Given the description of an element on the screen output the (x, y) to click on. 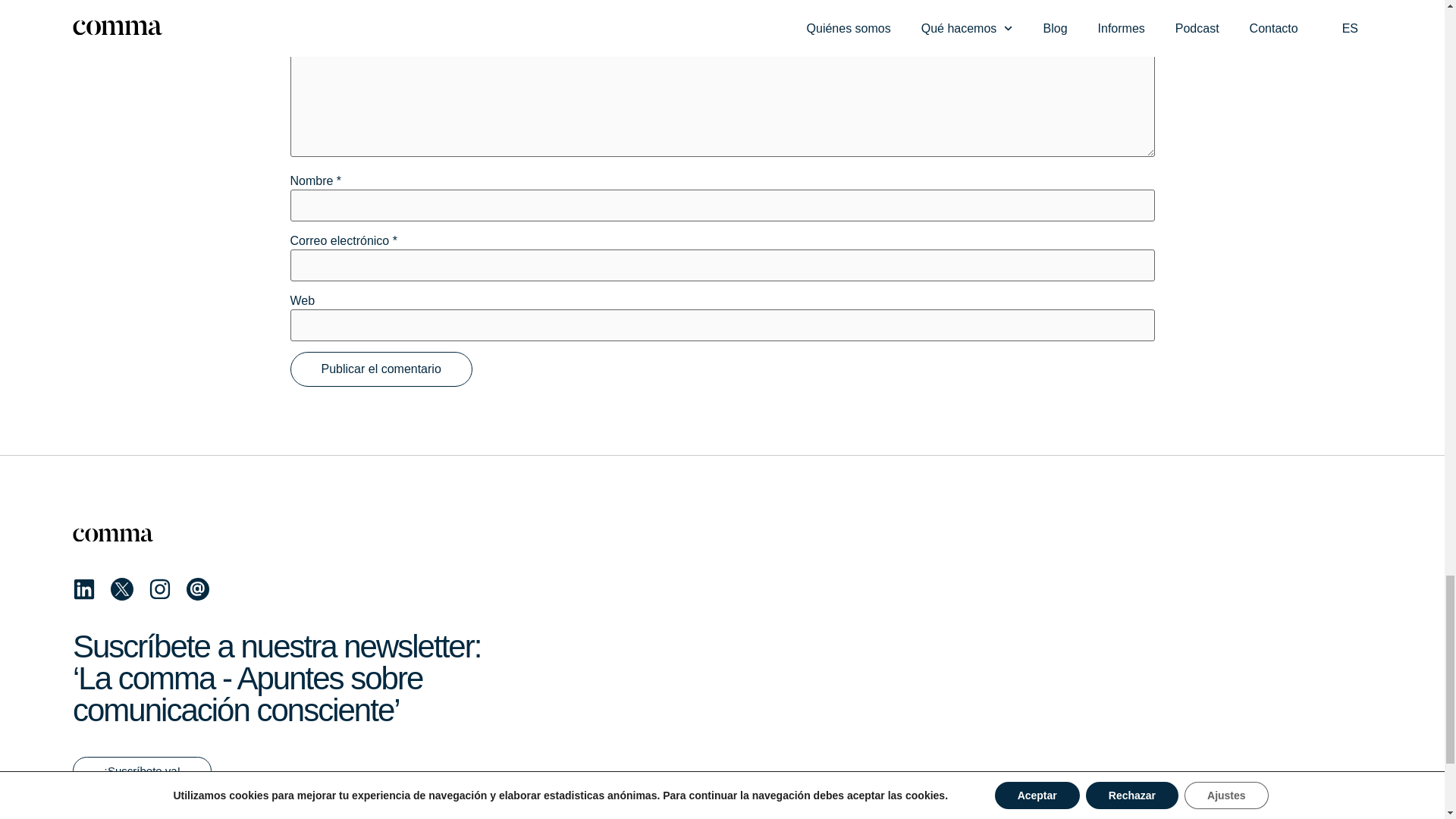
Publicar el comentario (380, 369)
